Given the description of an element on the screen output the (x, y) to click on. 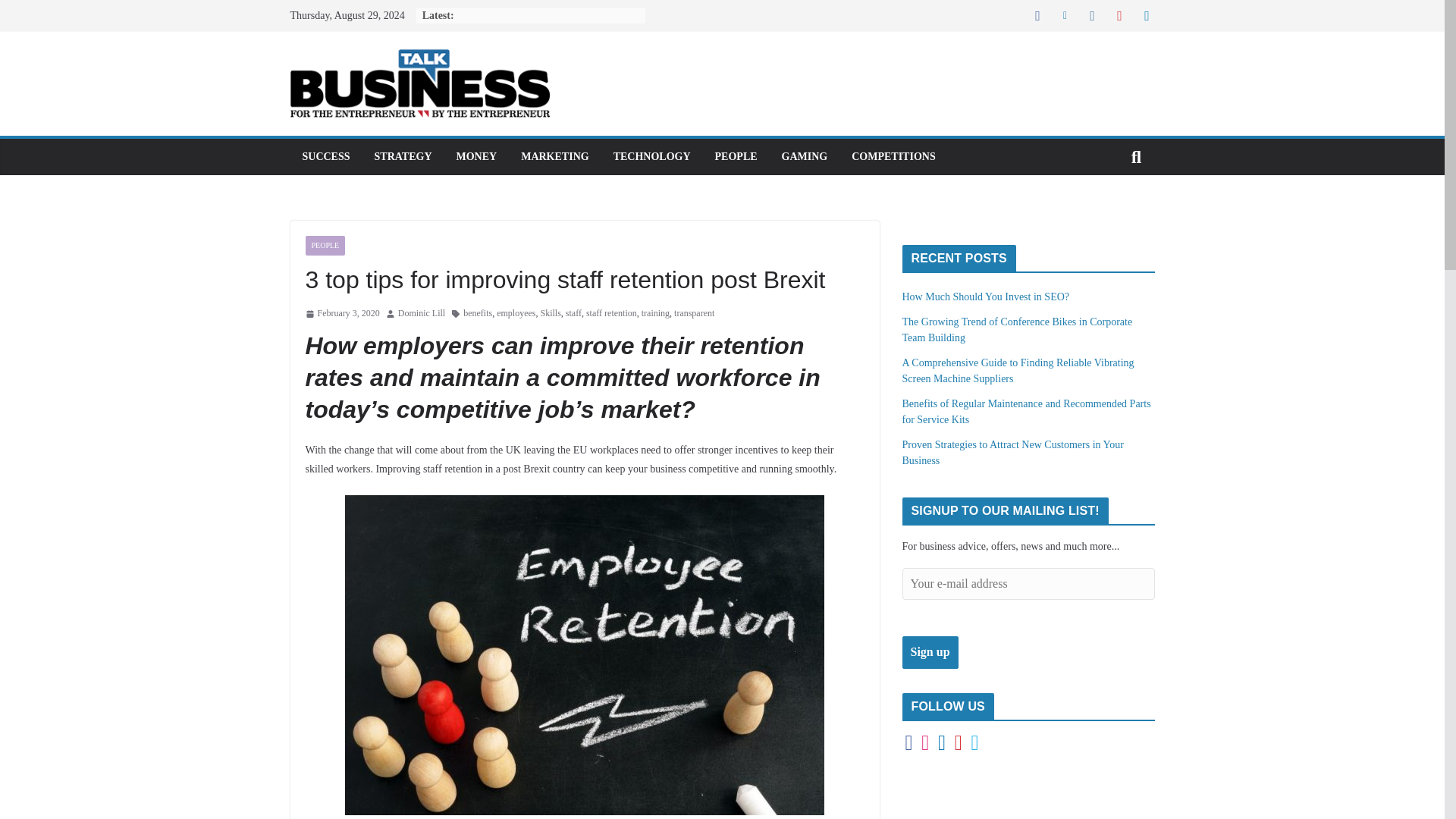
Dominic Lill (421, 313)
How Much Should You Invest in SEO? (986, 296)
PEOPLE (324, 245)
transparent (694, 313)
training (655, 313)
MARKETING (554, 156)
staff (573, 313)
TECHNOLOGY (651, 156)
February 3, 2020 (341, 313)
staff retention (611, 313)
